Given the description of an element on the screen output the (x, y) to click on. 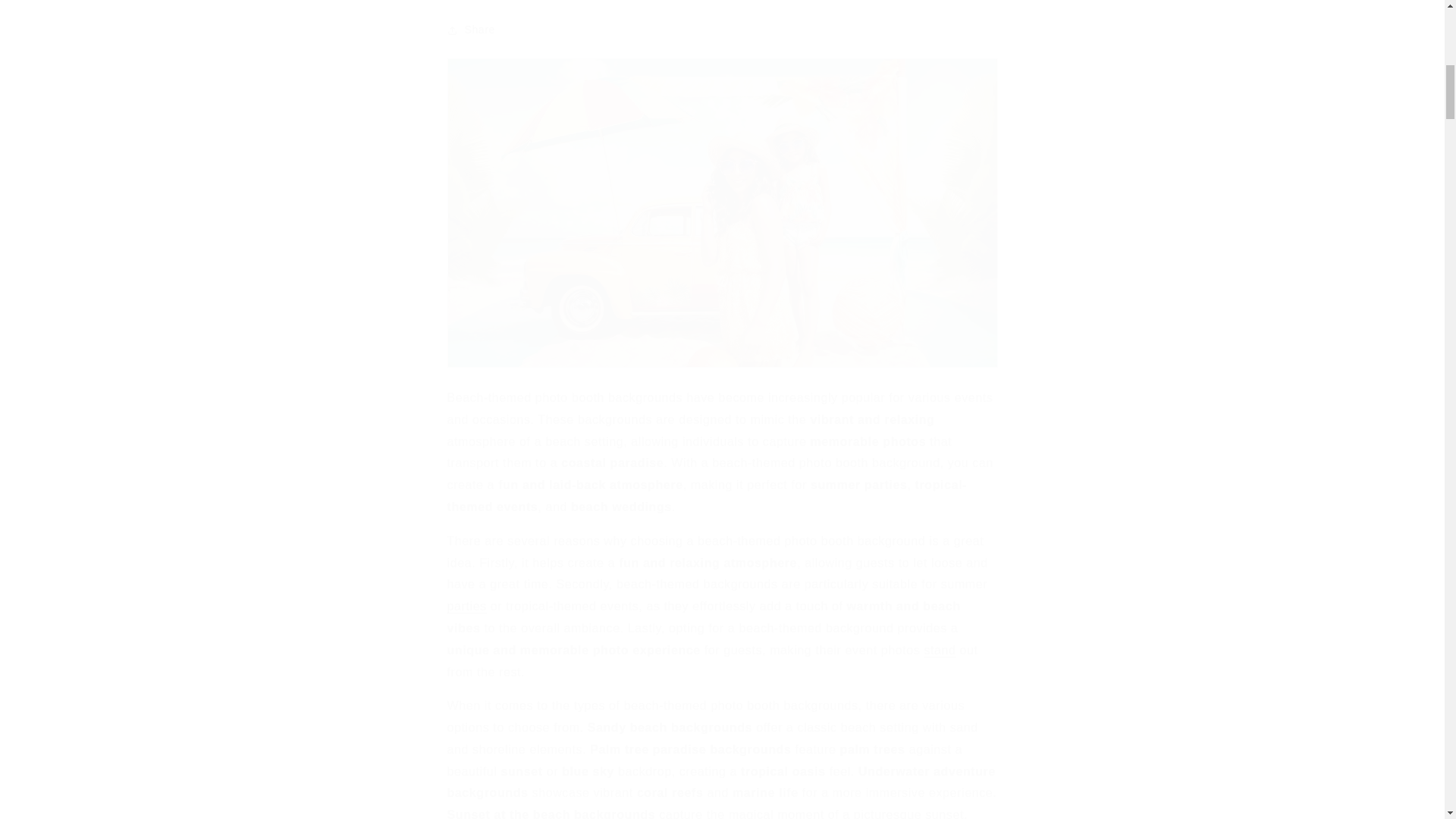
Share (721, 29)
parties (466, 605)
stand (939, 649)
